Given the description of an element on the screen output the (x, y) to click on. 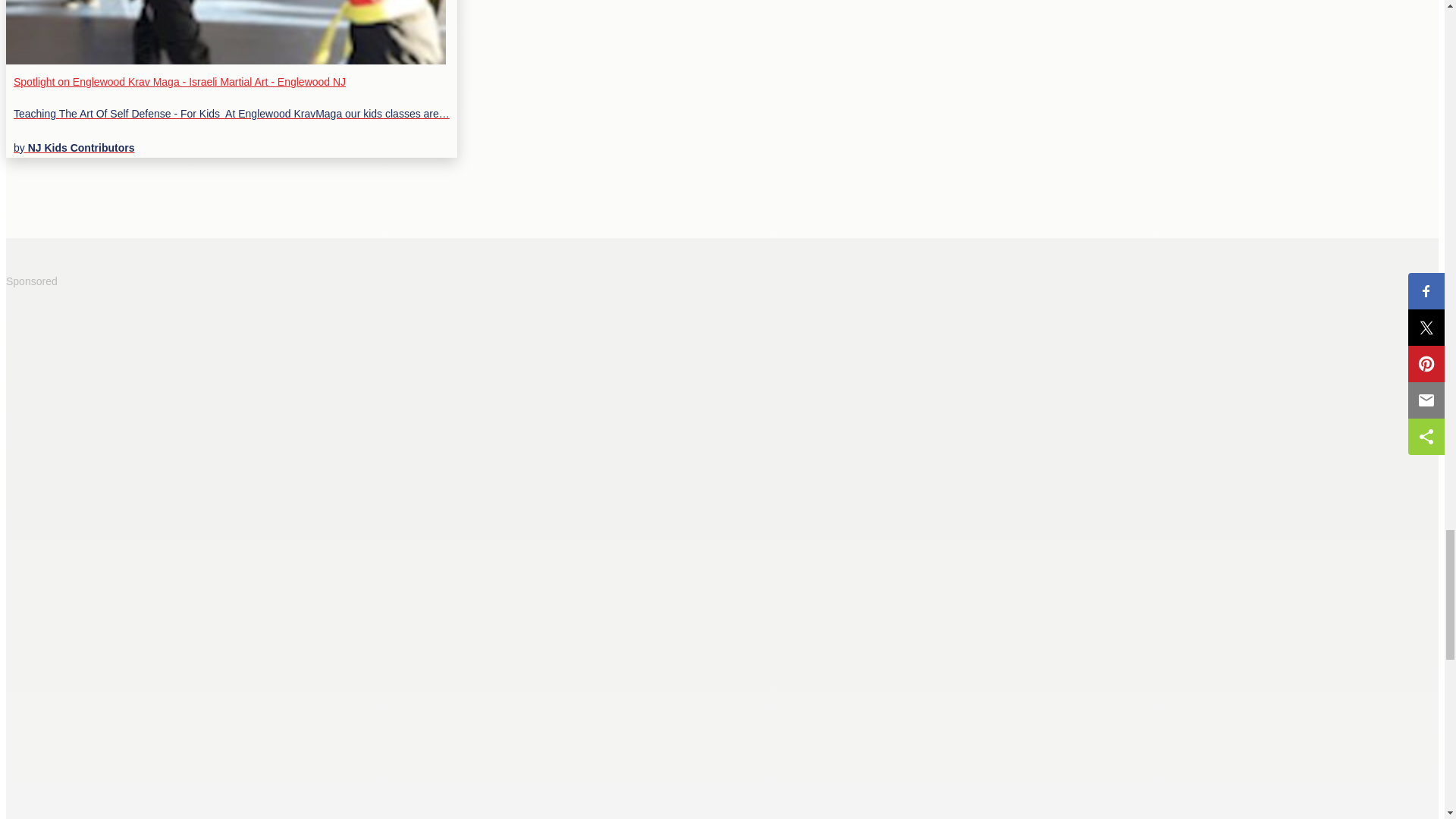
3rd party ad content (118, 748)
3rd party ad content (118, 392)
3rd party ad content (118, 582)
